Given the description of an element on the screen output the (x, y) to click on. 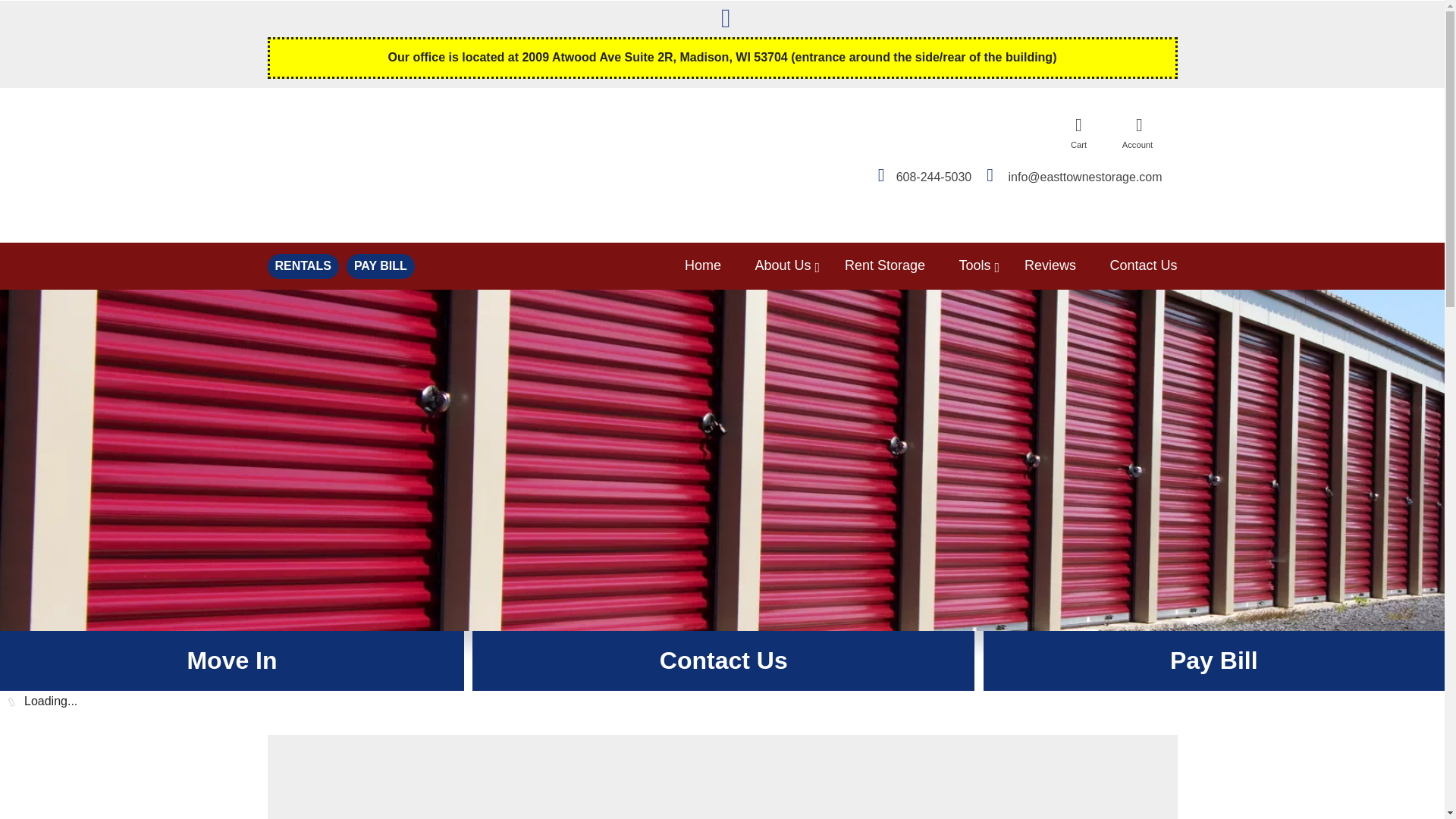
Account (1138, 132)
Contact Us (722, 660)
Account (1138, 132)
Reviews (1065, 265)
608-244-5030 (924, 173)
Customer Testimonials (1065, 265)
Home (717, 265)
RENTALS (301, 266)
Online Rentals (899, 265)
PAY BILL (380, 266)
